Given the description of an element on the screen output the (x, y) to click on. 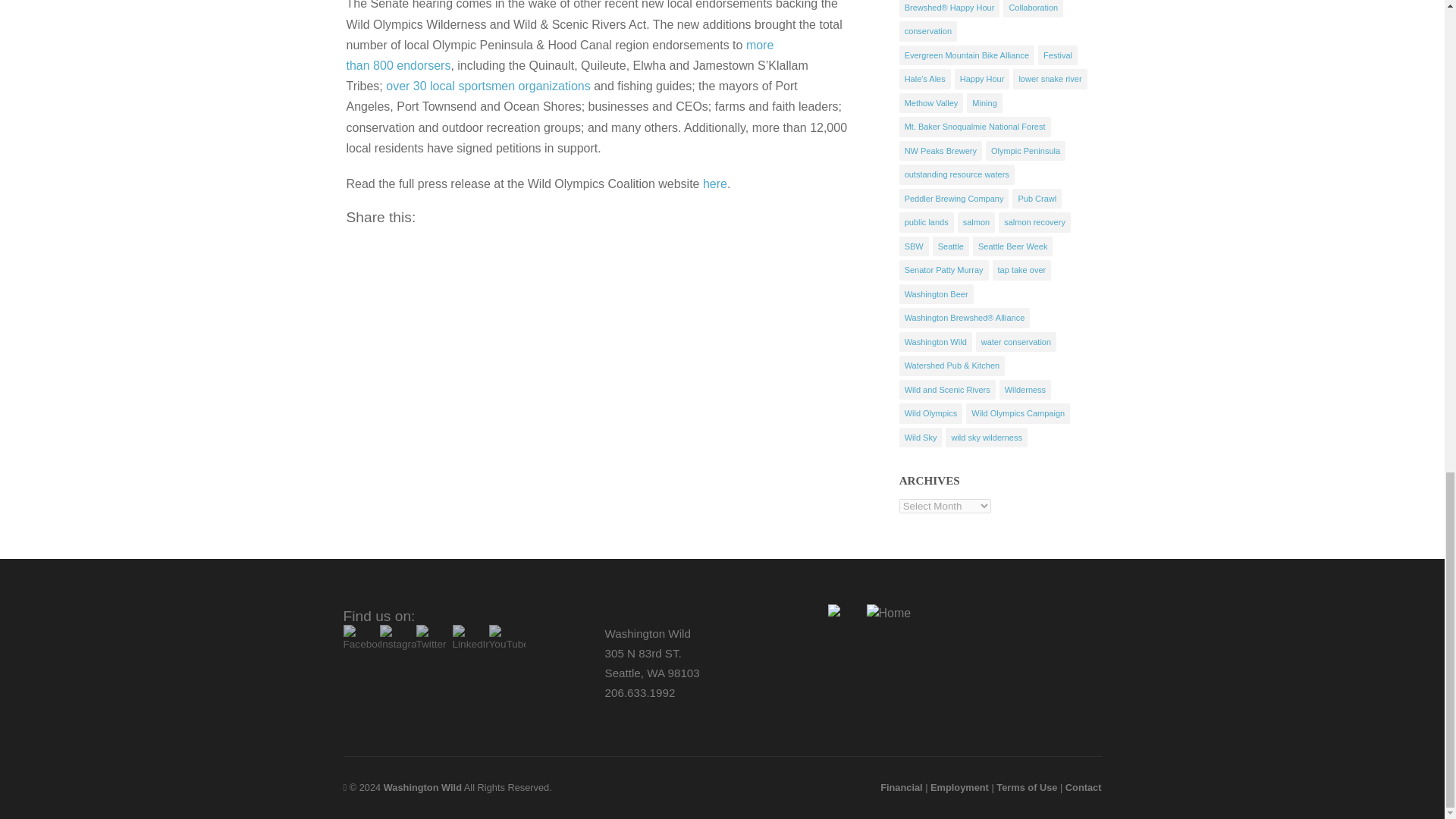
LinkedIn (469, 644)
Facebook (360, 644)
Share via Twitter (480, 228)
Share via Email (529, 228)
Twitter (432, 644)
Share via Facebook (456, 228)
Instagram (396, 644)
YouTube (505, 644)
Share via LinkedIn (505, 228)
